Given the description of an element on the screen output the (x, y) to click on. 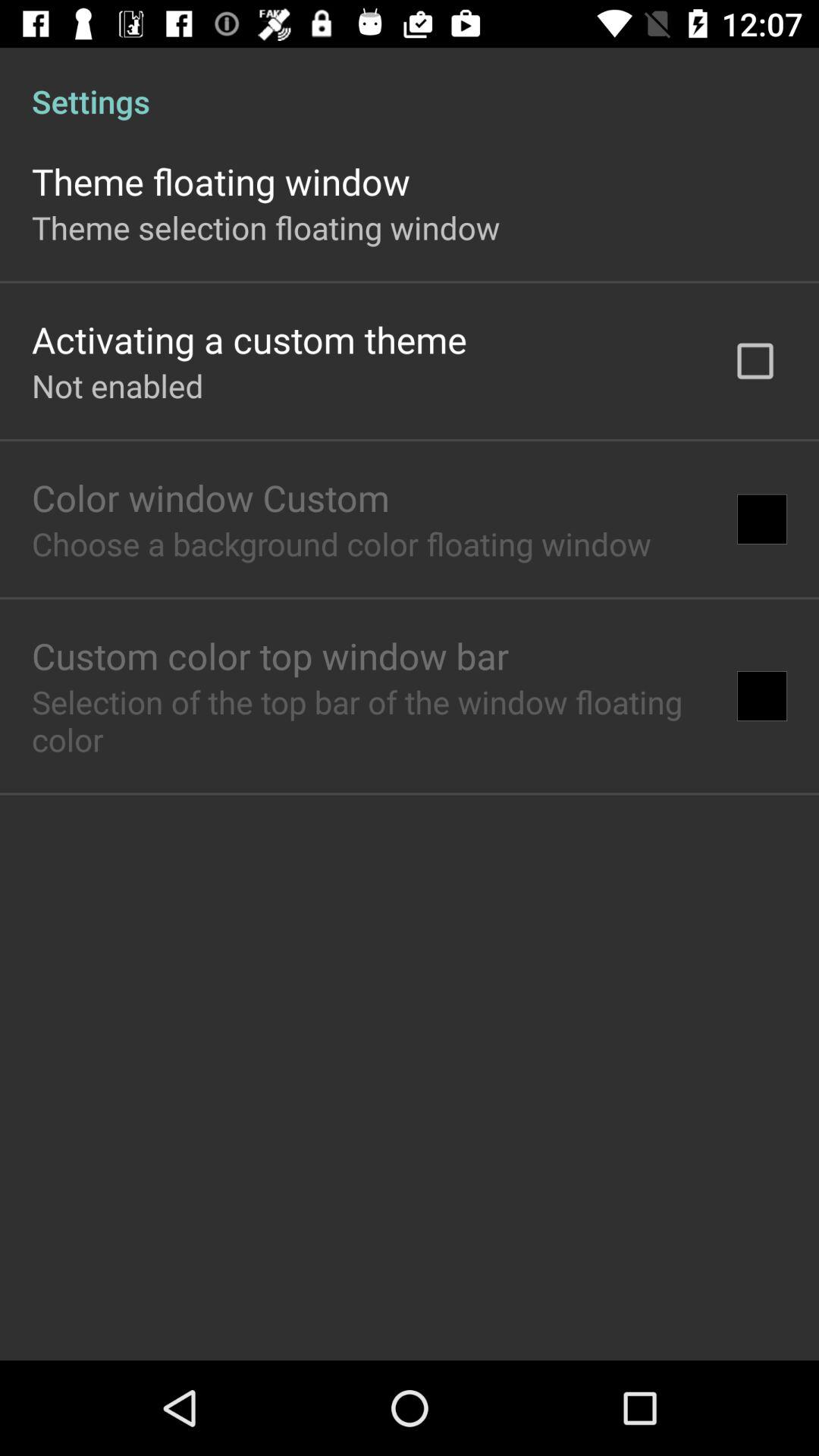
turn off the app next to the choose a background app (762, 519)
